Given the description of an element on the screen output the (x, y) to click on. 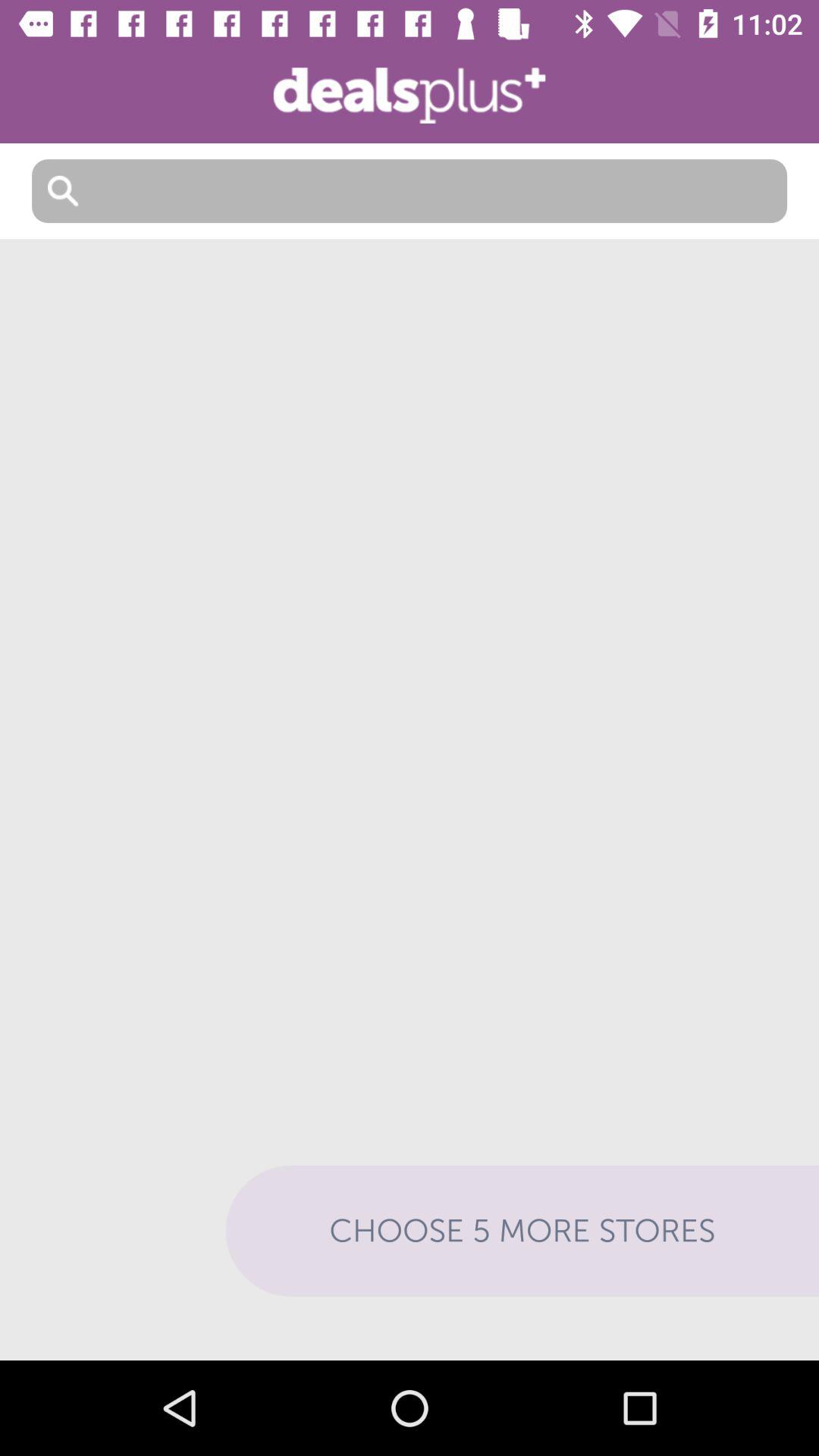
search (409, 190)
